Given the description of an element on the screen output the (x, y) to click on. 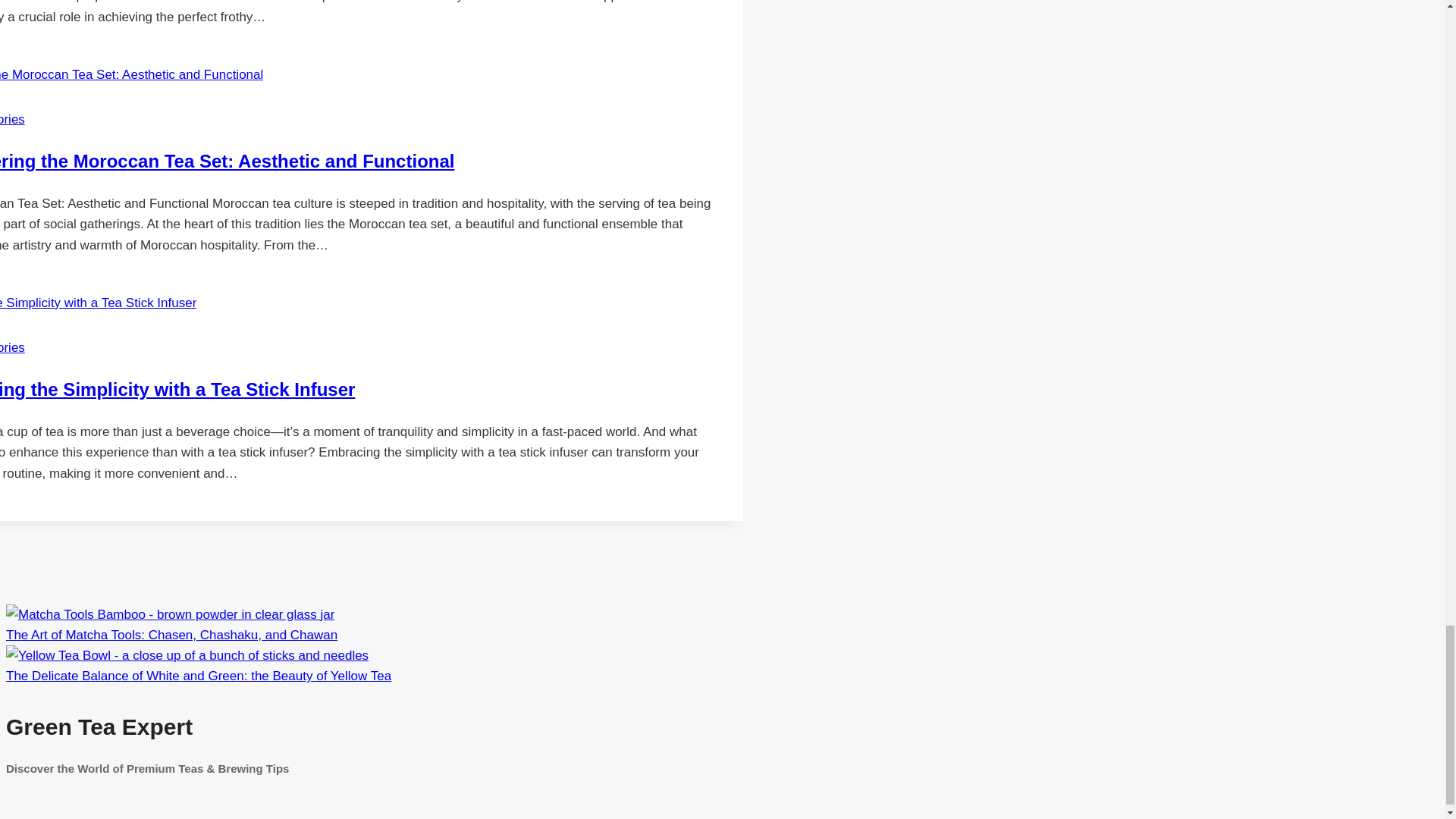
The Art of Matcha Tools: Chasen, Chashaku, and Chawan (169, 614)
Embracing the Simplicity with a Tea Stick Infuser (177, 389)
Tea Accessories (12, 347)
Tea Accessories (12, 119)
The Art of Matcha Tools: Chasen, Chashaku, and Chawan (171, 635)
Discovering the Moroccan Tea Set: Aesthetic and Functional (227, 160)
